Given the description of an element on the screen output the (x, y) to click on. 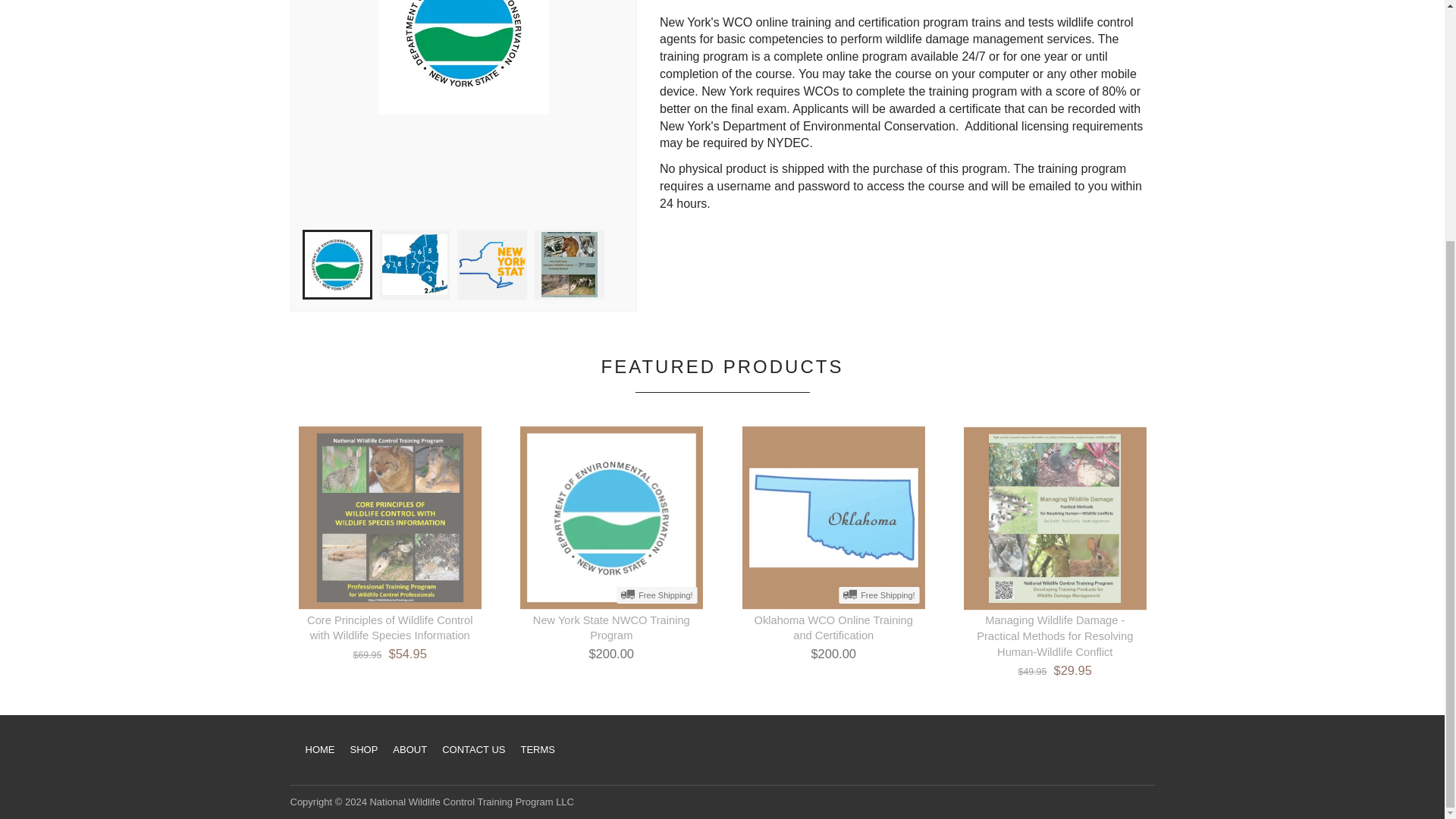
ABOUT (409, 749)
CONTACT US (472, 749)
TERMS (537, 749)
HOME (319, 749)
SHOP (363, 749)
